Given the description of an element on the screen output the (x, y) to click on. 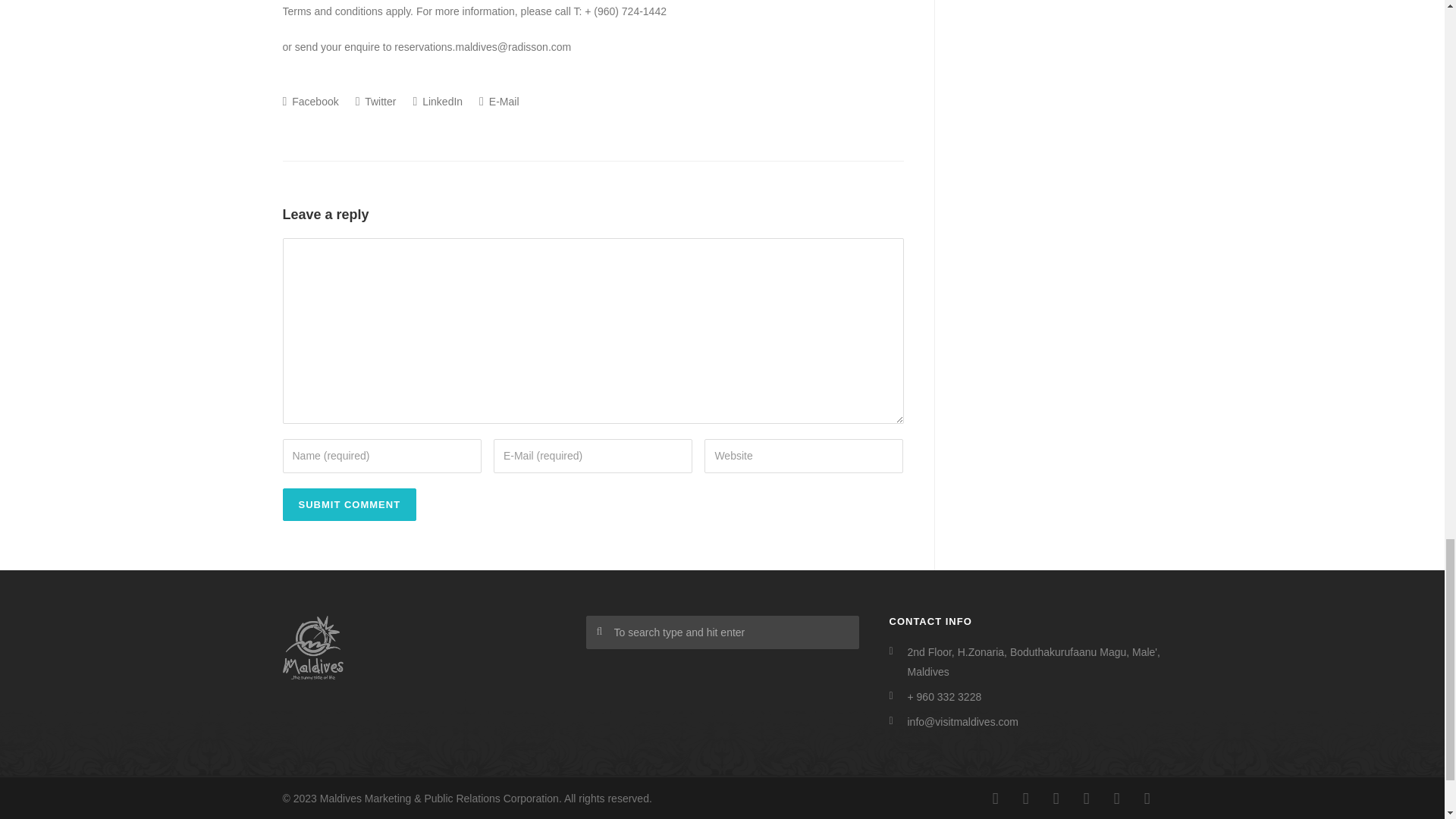
Pinterest (1085, 798)
YouTube (1146, 798)
Submit Comment (349, 504)
LinkedIn (1055, 798)
Facebook (994, 798)
Twitter (1115, 798)
Twitter (375, 101)
Website (803, 455)
To search type and hit enter (722, 632)
Instagram (1025, 798)
Facebook (309, 101)
